Given the description of an element on the screen output the (x, y) to click on. 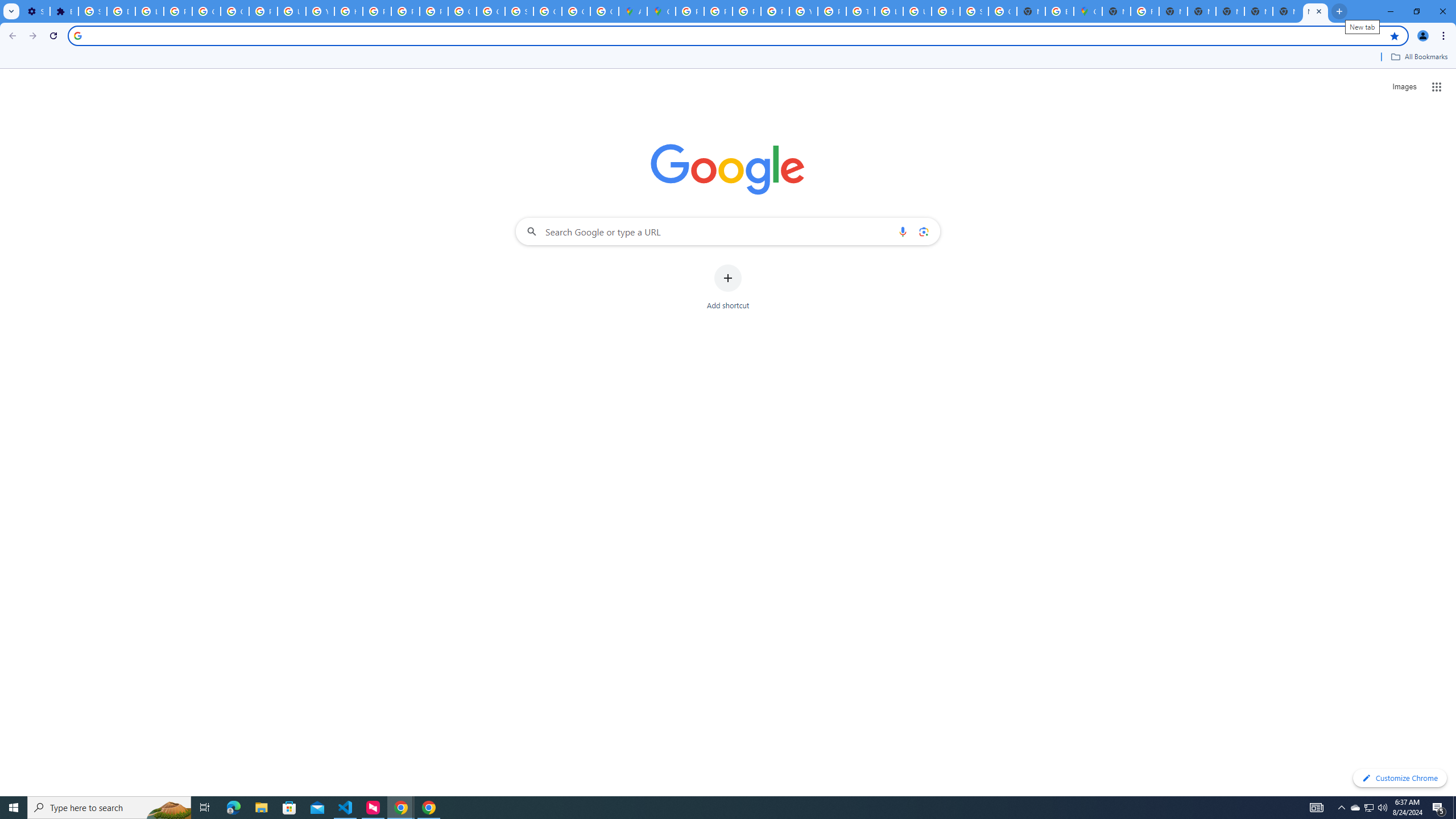
Search by voice (902, 230)
Delete photos & videos - Computer - Google Photos Help (120, 11)
New Tab (1287, 11)
Customize Chrome (1399, 778)
Privacy Help Center - Policies Help (377, 11)
New Tab (1116, 11)
Tips & tricks for Chrome - Google Chrome Help (860, 11)
https://scholar.google.com/ (348, 11)
